Given the description of an element on the screen output the (x, y) to click on. 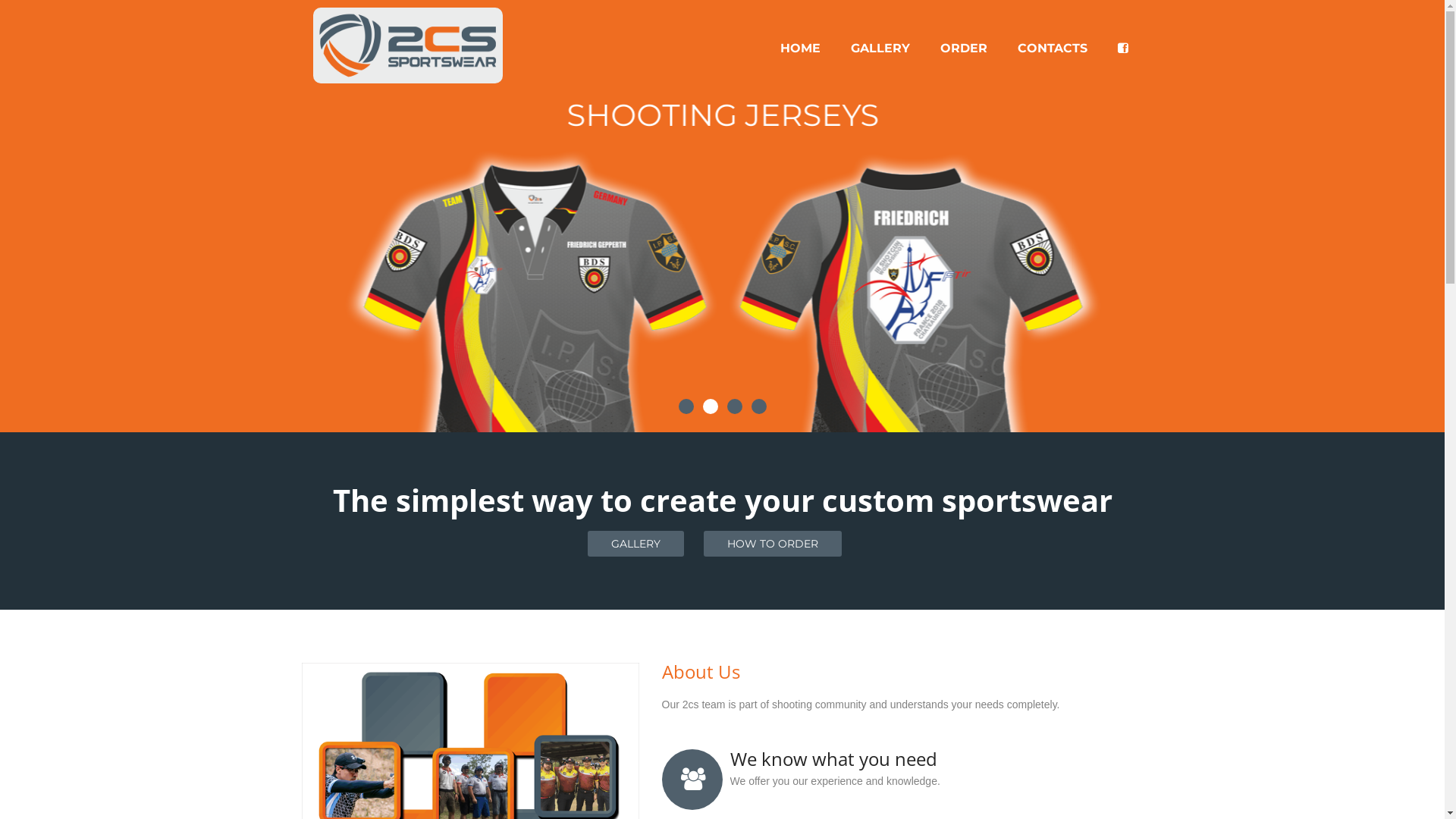
Facebook 2cs Sports Wear Element type: hover (1122, 32)
4 Element type: text (757, 406)
3 Element type: text (733, 406)
GALLERY Element type: text (880, 32)
ORDER Element type: text (963, 32)
1 Element type: text (685, 406)
HOW TO ORDER Element type: text (772, 543)
2 Element type: text (709, 406)
HOME Element type: text (799, 32)
2cs Sports Wear Element type: hover (407, 44)
GALLERY Element type: text (635, 543)
CONTACTS Element type: text (1052, 32)
